Given the description of an element on the screen output the (x, y) to click on. 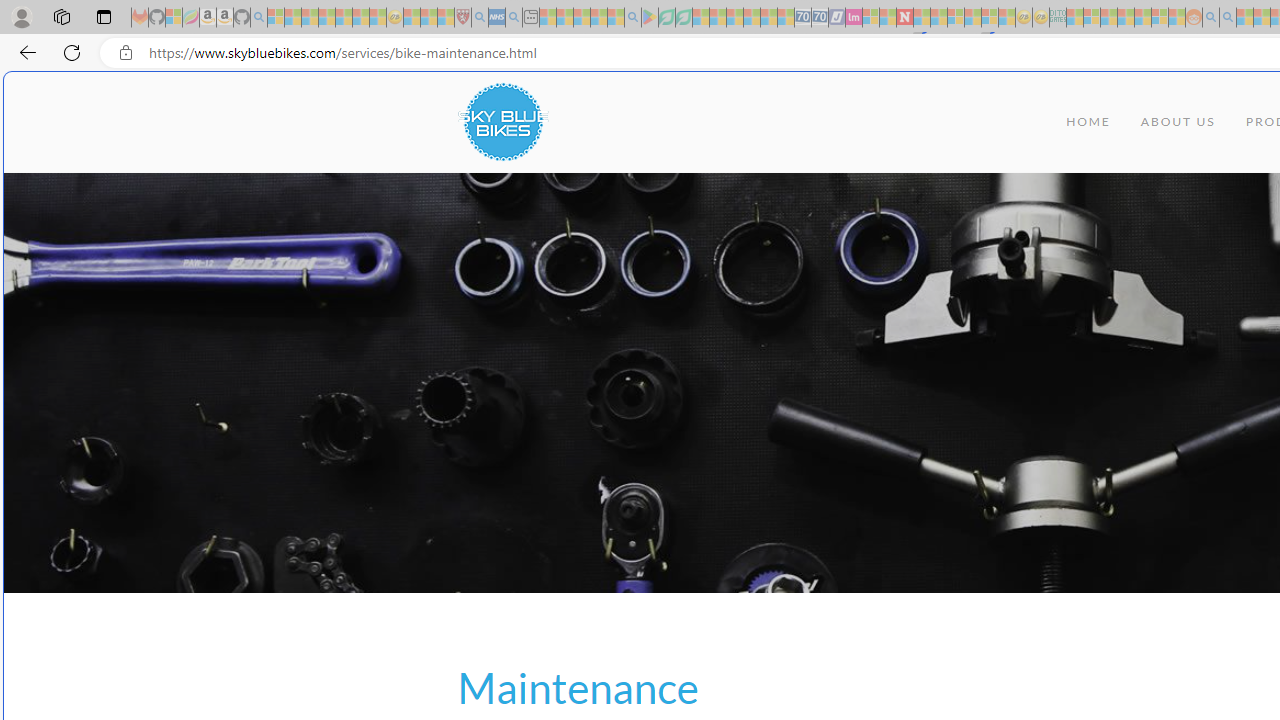
ABOUT US (1178, 122)
Cheap Car Rentals - Save70.com - Sleeping (802, 17)
The Weather Channel - MSN - Sleeping (309, 17)
MSNBC - MSN - Sleeping (1074, 17)
Latest Politics News & Archive | Newsweek.com - Sleeping (904, 17)
list of asthma inhalers uk - Search - Sleeping (479, 17)
Jobs - lastminute.com Investor Portal - Sleeping (853, 17)
utah sues federal government - Search - Sleeping (513, 17)
Pets - MSN - Sleeping (598, 17)
